Given the description of an element on the screen output the (x, y) to click on. 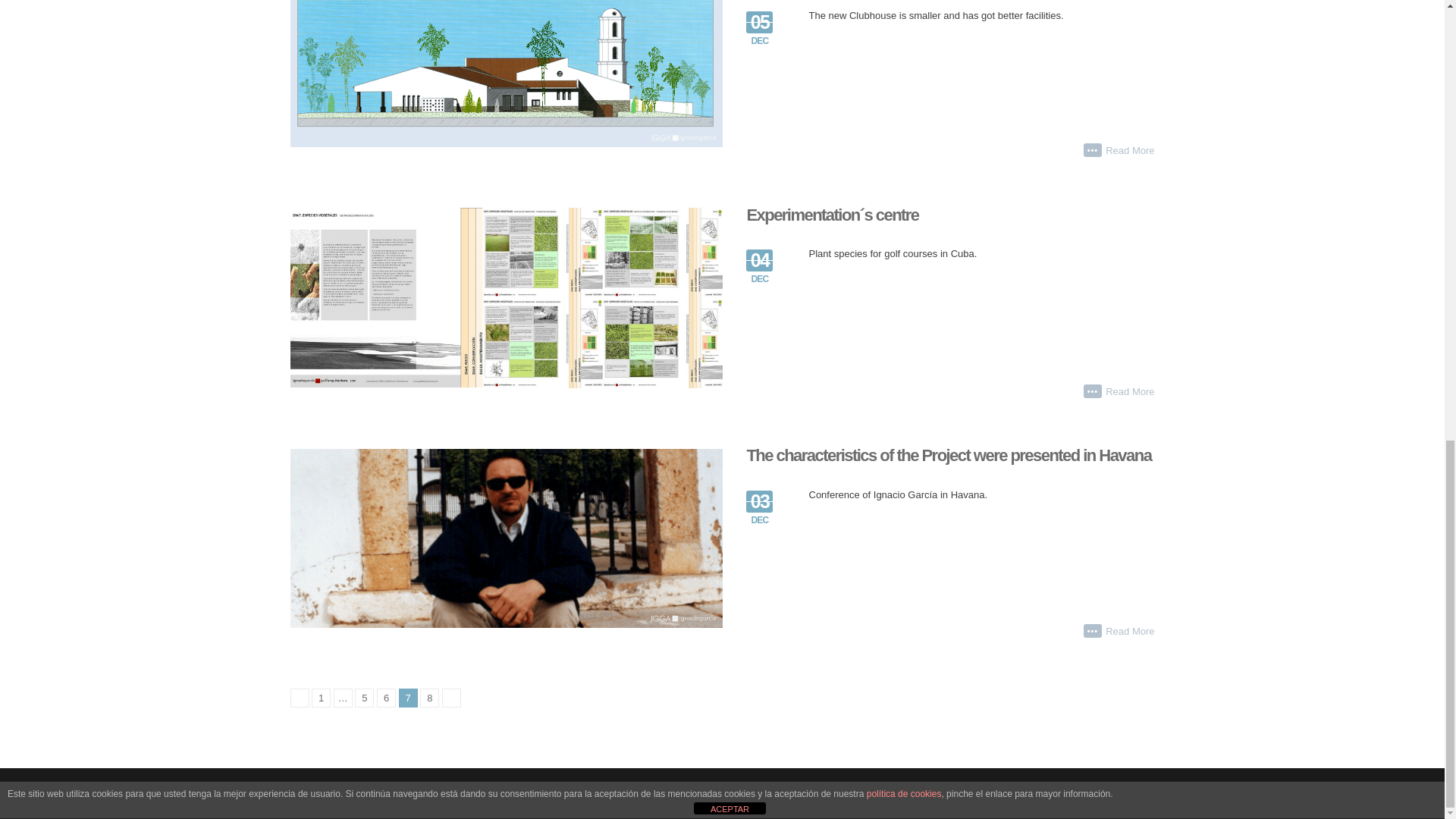
Read More (1129, 150)
